Given the description of an element on the screen output the (x, y) to click on. 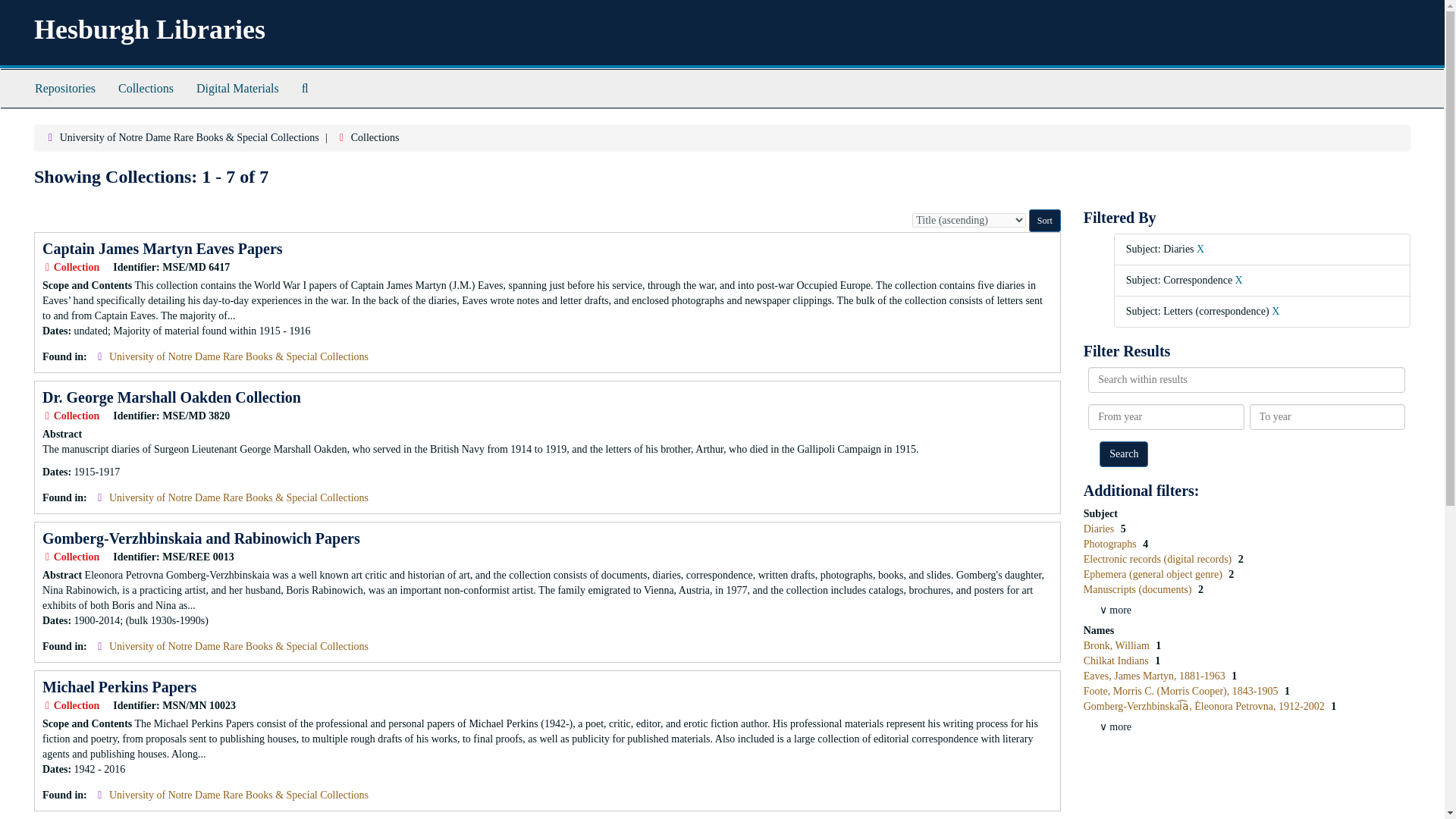
Search (1123, 453)
Dr. George Marshall Oakden Collection (171, 397)
Collections (145, 88)
Hesburgh Libraries (148, 29)
Filter By 'Photographs' (1111, 543)
Captain James Martyn Eaves Papers (162, 248)
Diaries (1099, 528)
Repositories (64, 88)
Search (1123, 453)
Sort (1045, 220)
Return to the ArchivesSpace homepage (148, 29)
Digital Materials (236, 88)
Photographs (1111, 543)
Filter By 'Diaries' (1099, 528)
Sort (1045, 220)
